Given the description of an element on the screen output the (x, y) to click on. 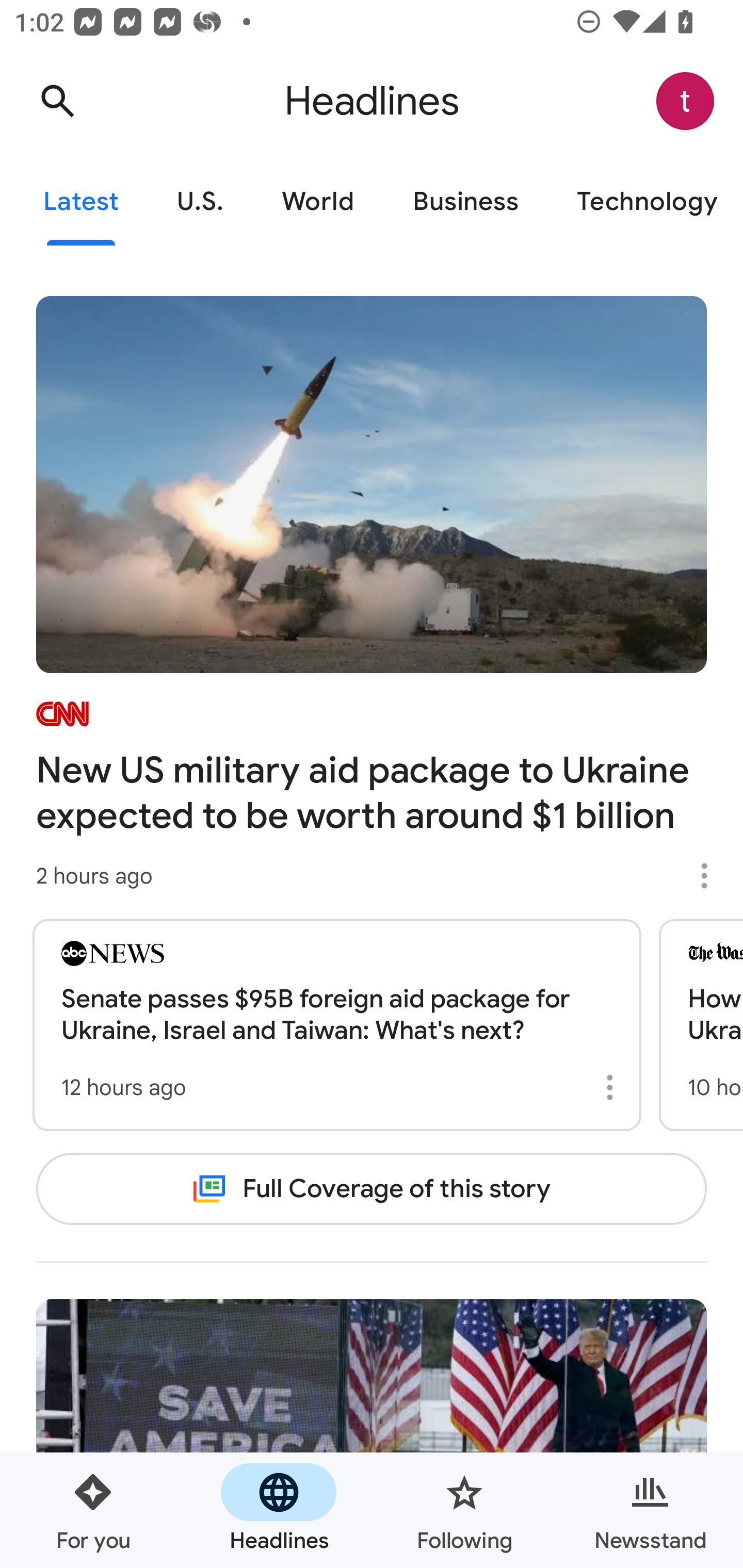
Search (57, 100)
U.S. (199, 202)
World (317, 202)
Business (465, 202)
Technology (645, 202)
More options (711, 875)
More options (613, 1086)
Full Coverage of this story (371, 1188)
For you (92, 1509)
Headlines (278, 1509)
Following (464, 1509)
Newsstand (650, 1509)
